Given the description of an element on the screen output the (x, y) to click on. 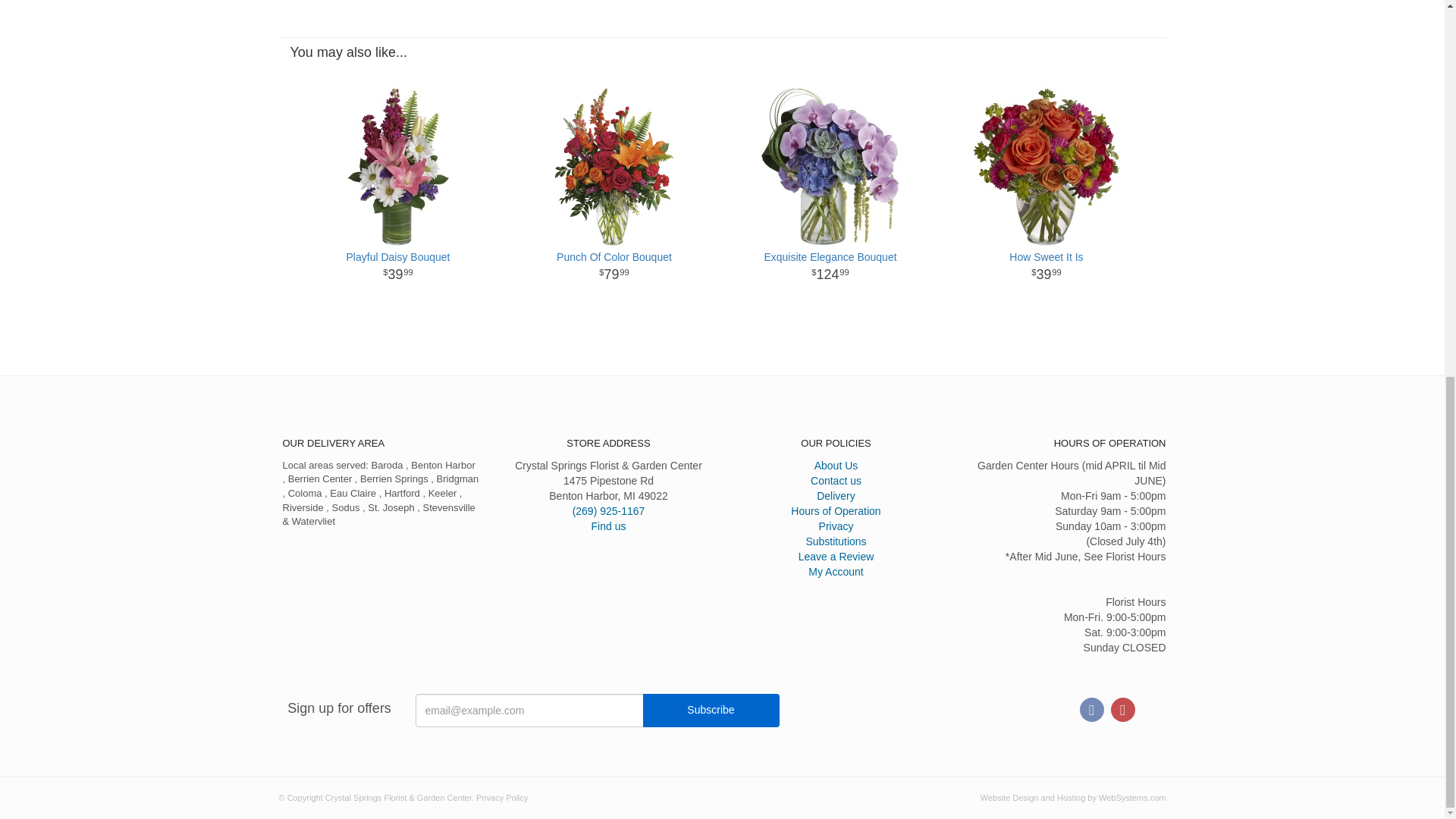
Subscribe (613, 267)
